Given the description of an element on the screen output the (x, y) to click on. 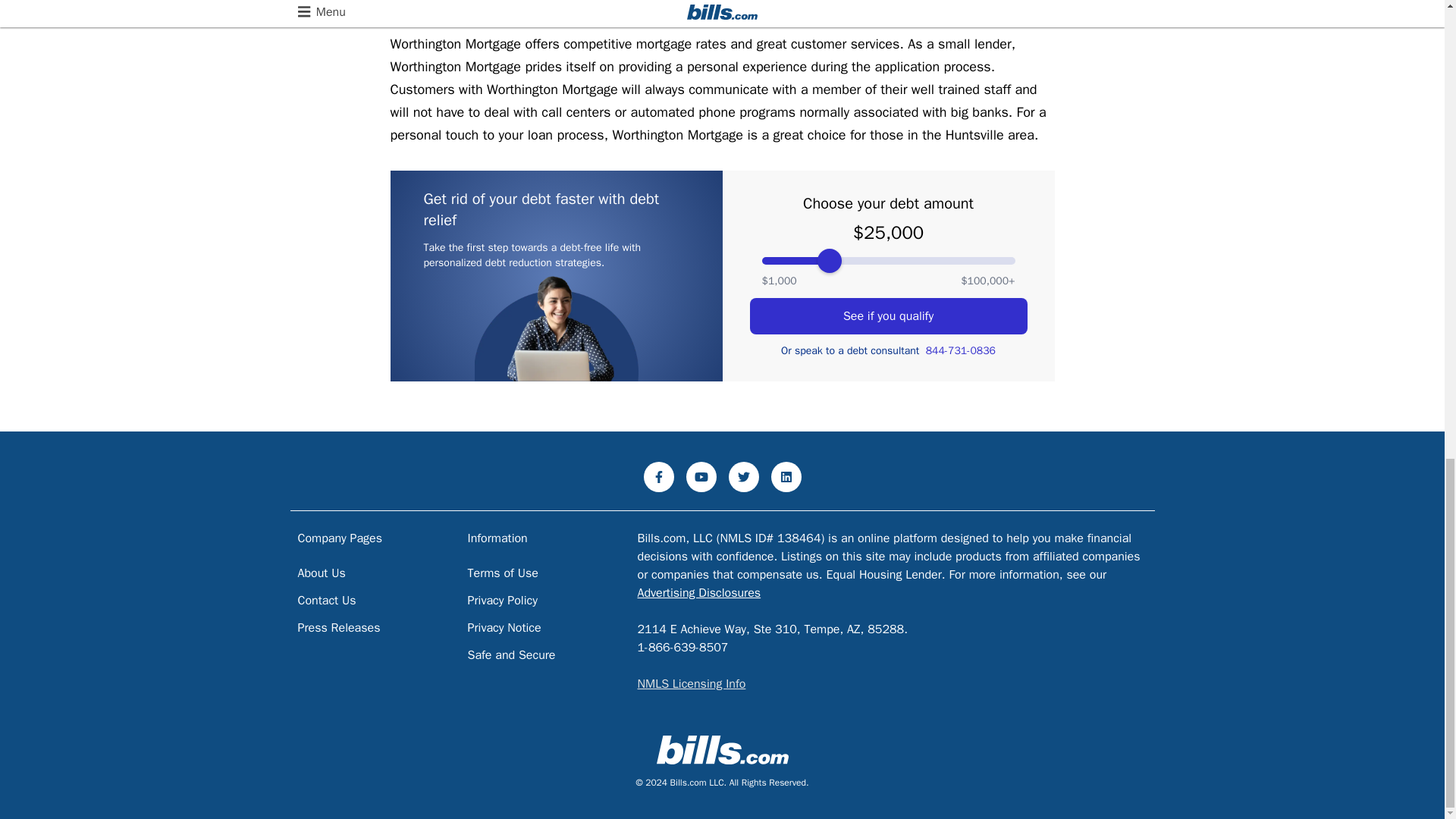
25000 (887, 260)
